Given the description of an element on the screen output the (x, y) to click on. 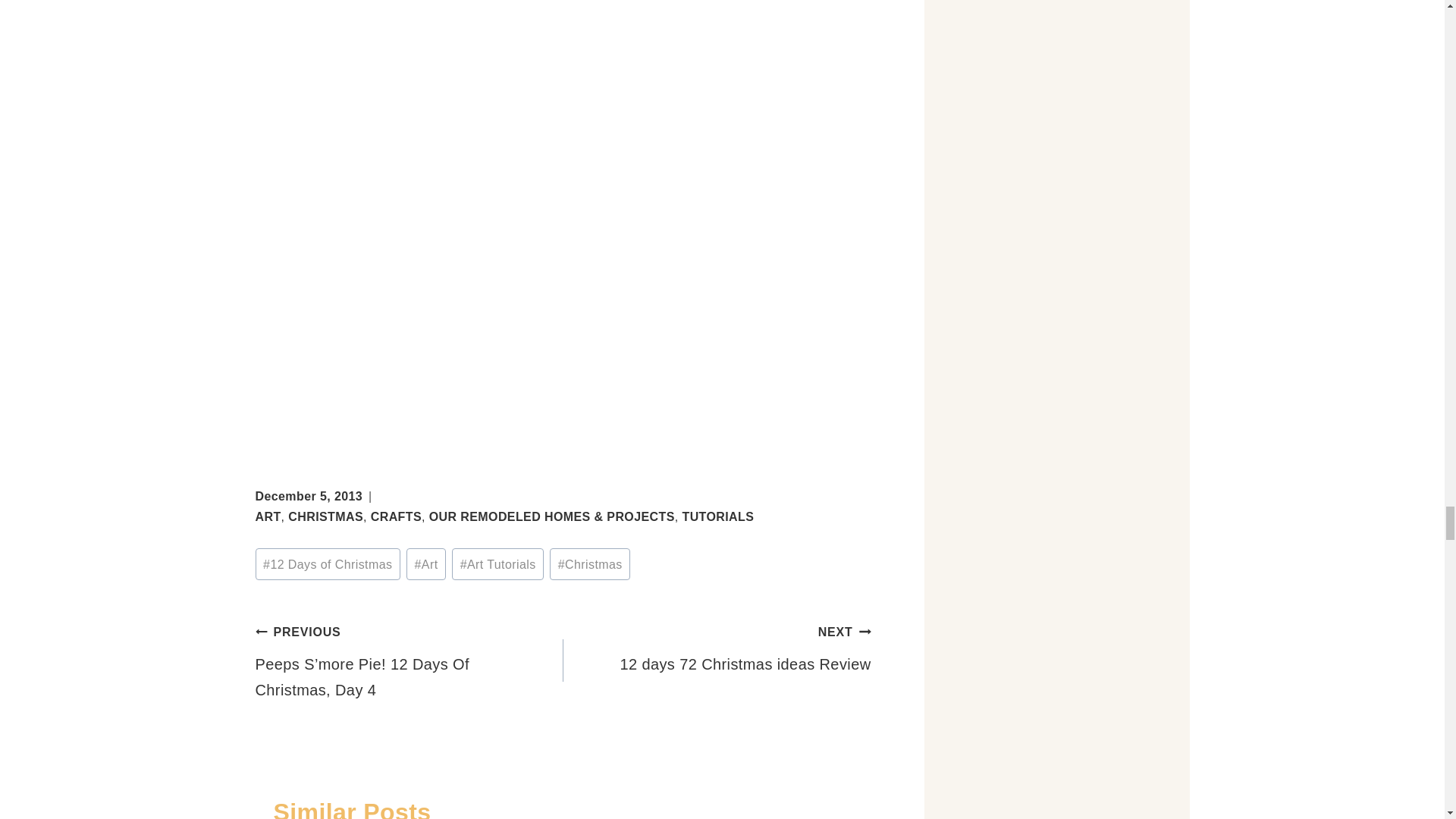
12 Days of Christmas (326, 563)
Christmas (590, 563)
Art (425, 563)
Art Tutorials (497, 563)
